Given the description of an element on the screen output the (x, y) to click on. 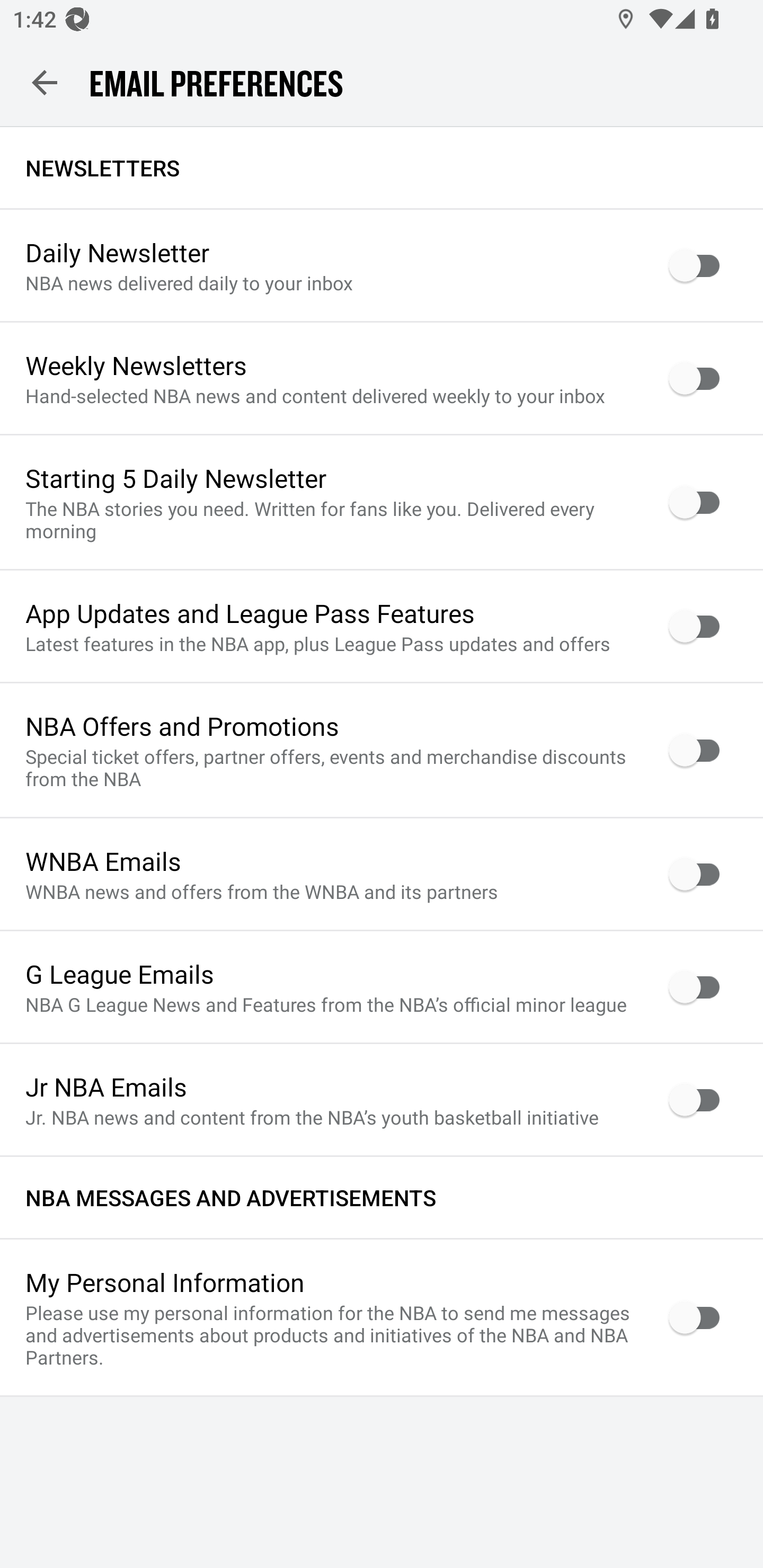
Navigate up (44, 82)
